Given the description of an element on the screen output the (x, y) to click on. 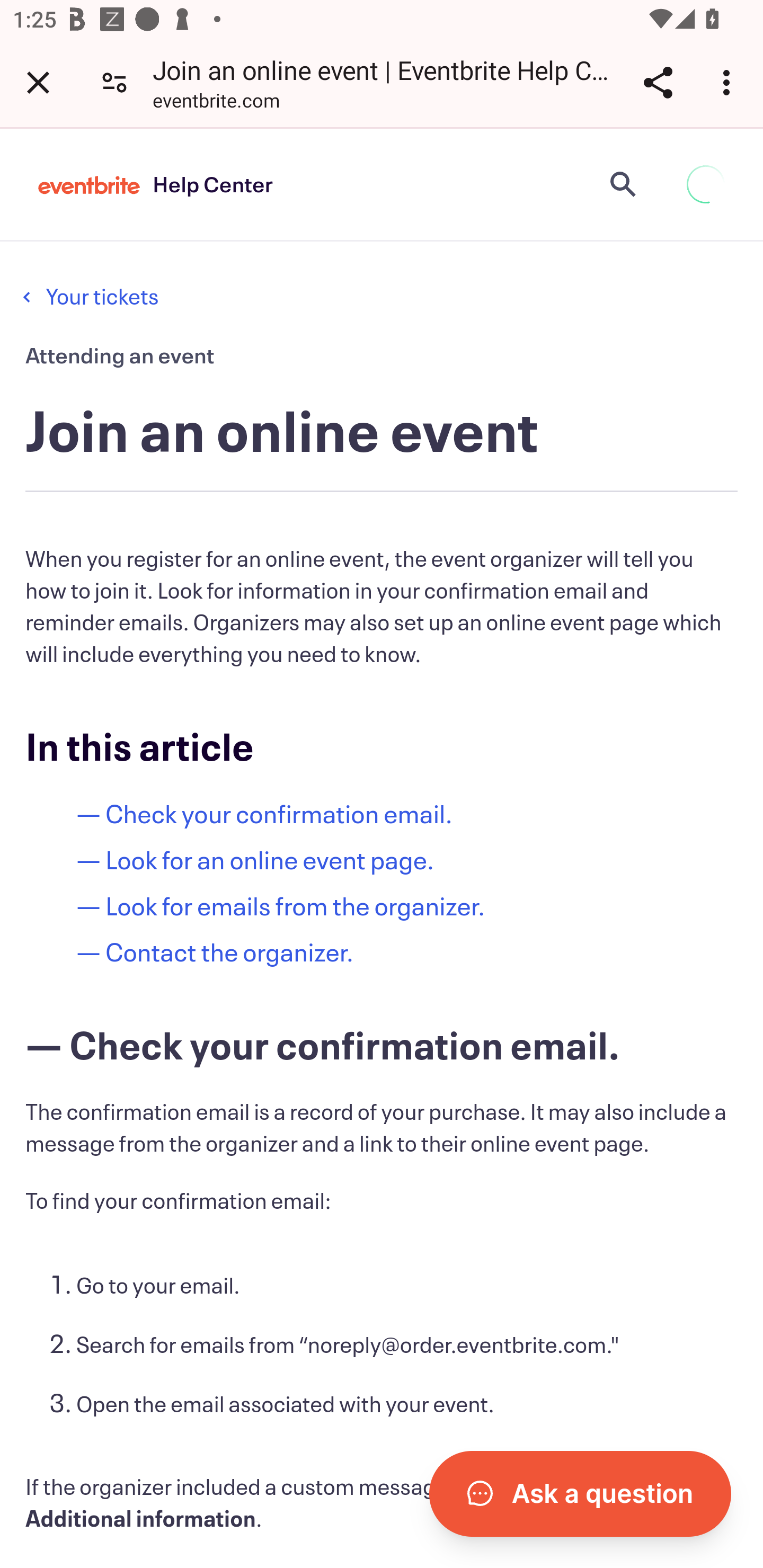
Close tab (38, 82)
Share (657, 82)
Customize and control Google Chrome (729, 82)
Connection is secure (114, 81)
eventbrite.com (216, 103)
Eventbrite Help Center Eventbrite logo Help Center (155, 184)
animation (705, 183)
Your tickets (101, 296)
Open Chatbot (579, 1493)
